Given the description of an element on the screen output the (x, y) to click on. 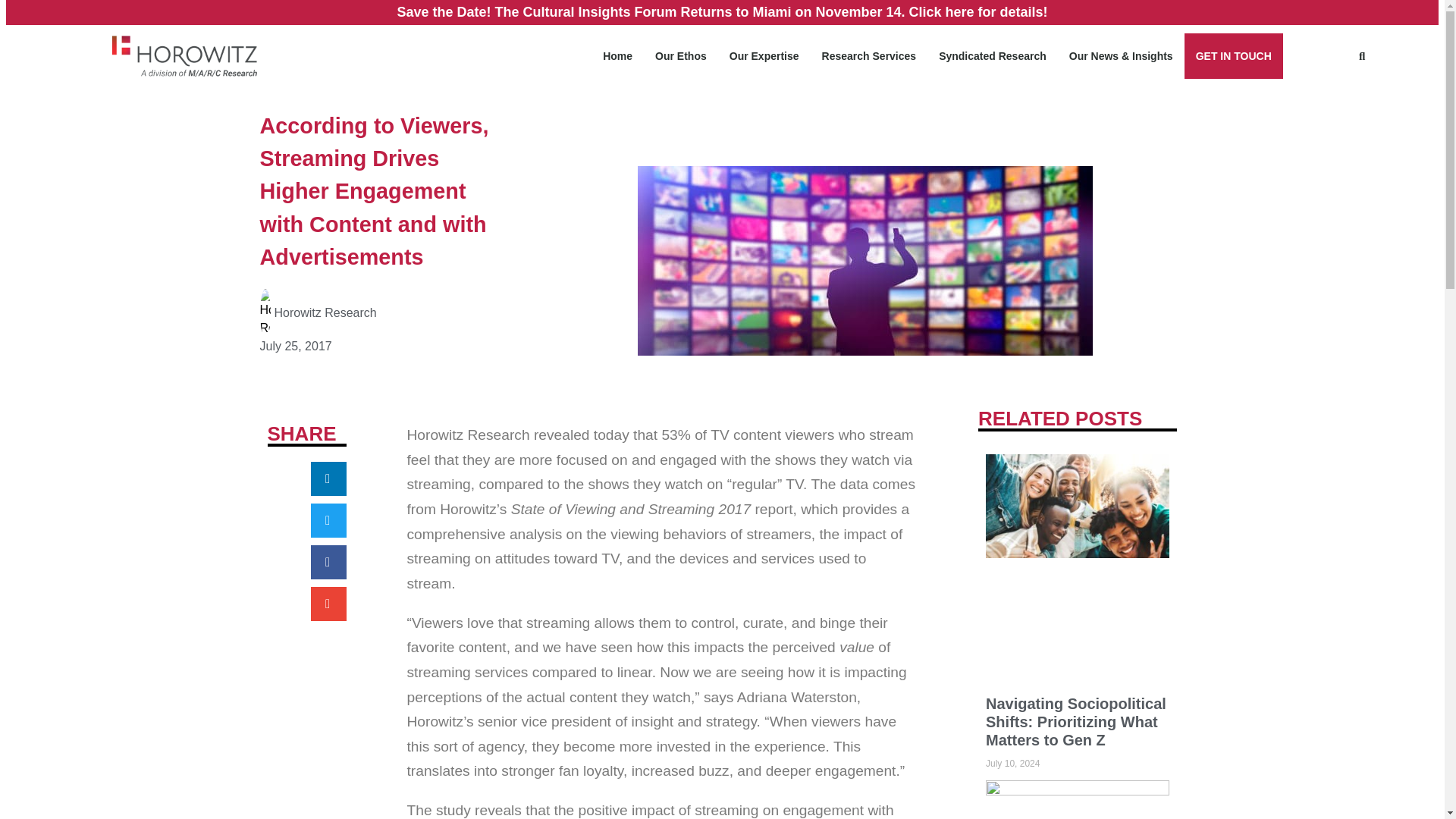
Click here for details! (978, 11)
Research Services (869, 55)
Home (617, 55)
Our Ethos (680, 55)
Syndicated Research (992, 55)
Our Expertise (763, 55)
